Given the description of an element on the screen output the (x, y) to click on. 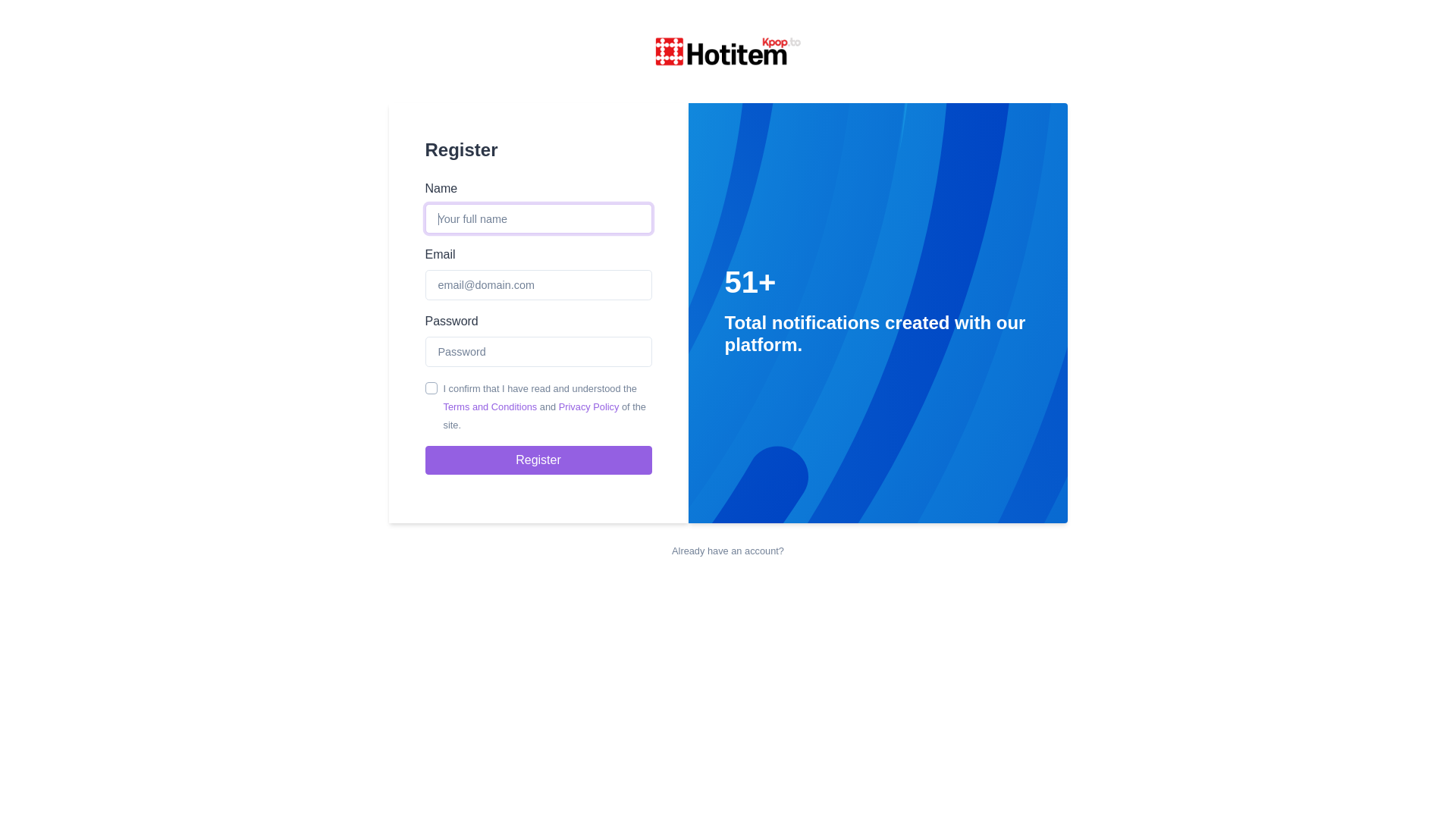
Register Element type: text (537, 459)
Privacy Policy Element type: text (588, 406)
Already have an account? Element type: text (727, 550)
Terms and Conditions Element type: text (489, 406)
